Given the description of an element on the screen output the (x, y) to click on. 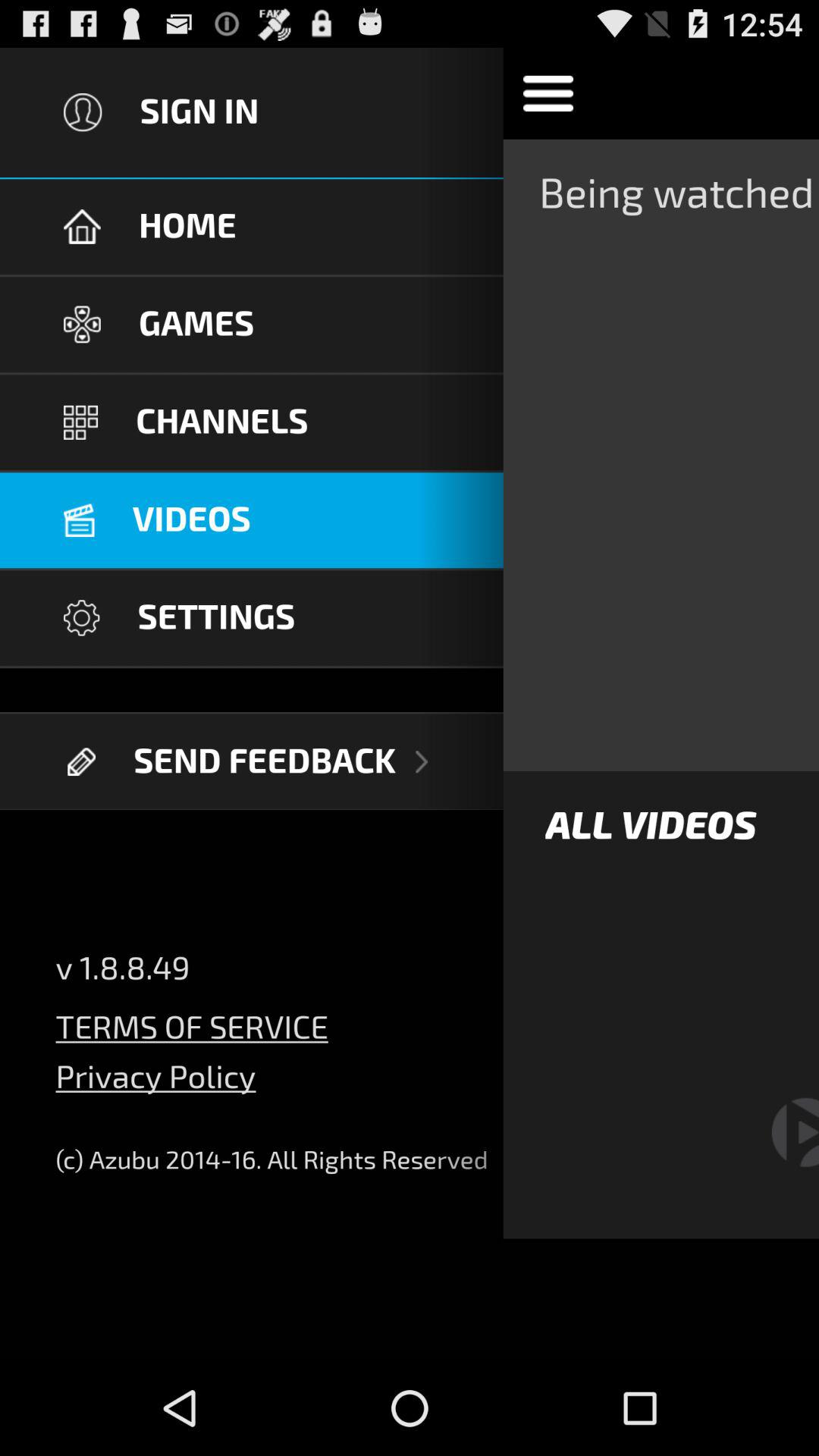
swipe to privacy policy (155, 1087)
